Given the description of an element on the screen output the (x, y) to click on. 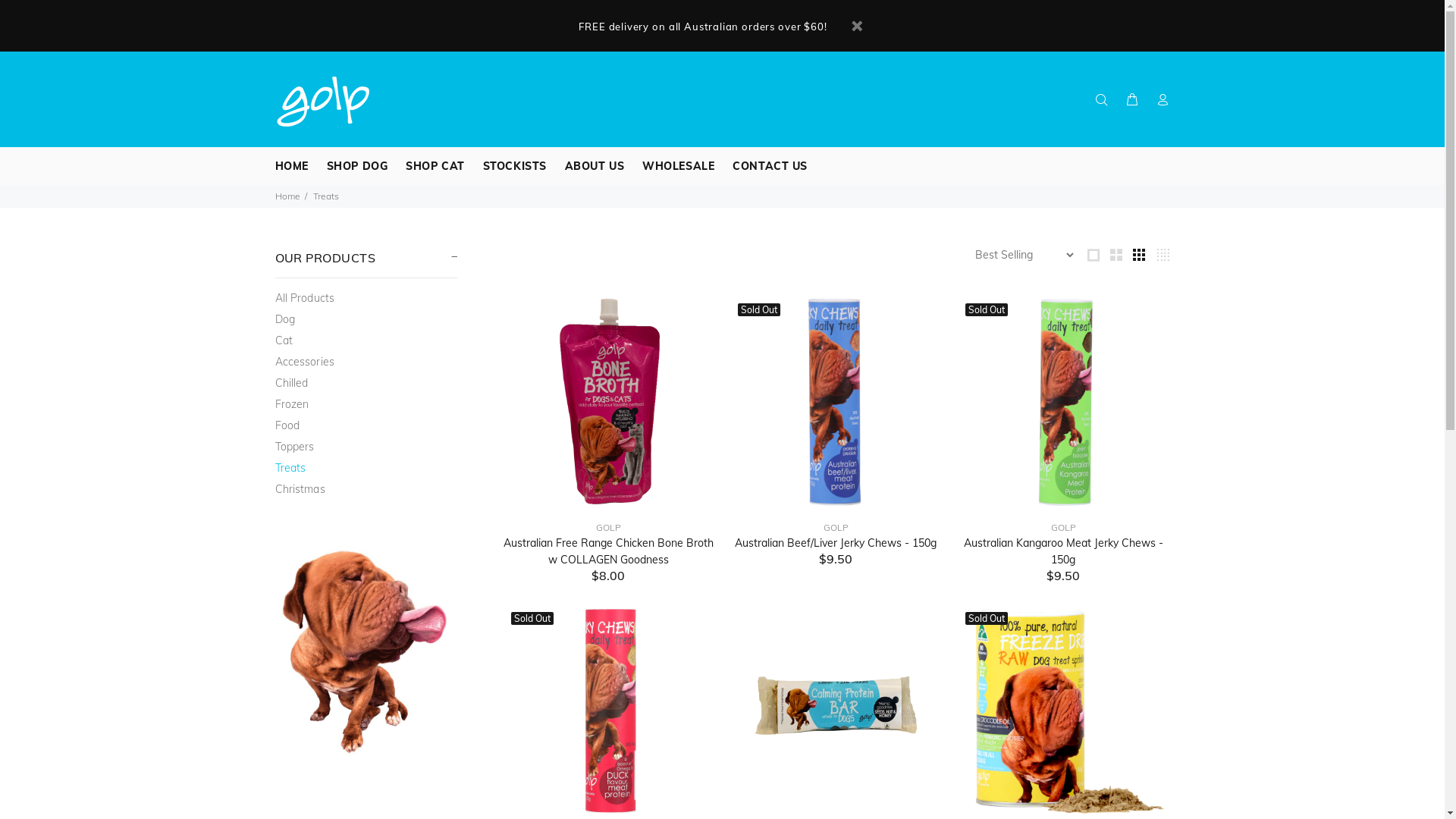
Sold Out Element type: text (835, 400)
Sold Out Element type: text (1063, 400)
Chilled Element type: text (365, 382)
Food Element type: text (365, 425)
Dog Element type: text (365, 318)
Sold Out Element type: text (1063, 709)
Cat Element type: text (365, 340)
SHOP CAT Element type: text (434, 166)
ABOUT US Element type: text (594, 166)
GOLP Element type: text (1063, 527)
Australian Beef/Liver Jerky Chews - 150g Element type: text (835, 542)
Australian Kangaroo Meat Jerky Chews - 150g Element type: text (1063, 551)
GOLP Element type: text (608, 527)
Treats Element type: text (365, 467)
Sold Out Element type: text (608, 709)
HOME Element type: text (290, 166)
Frozen Element type: text (365, 403)
CONTACT US Element type: text (765, 166)
Toppers Element type: text (365, 446)
Australian Free Range Chicken Bone Broth w COLLAGEN Goodness Element type: text (608, 551)
All Products Element type: text (365, 297)
Home Element type: text (286, 195)
WHOLESALE Element type: text (678, 166)
Christmas Element type: text (365, 486)
Accessories Element type: text (365, 361)
GOLP Element type: text (835, 527)
SHOP DOG Element type: text (356, 166)
STOCKISTS Element type: text (514, 166)
